Given the description of an element on the screen output the (x, y) to click on. 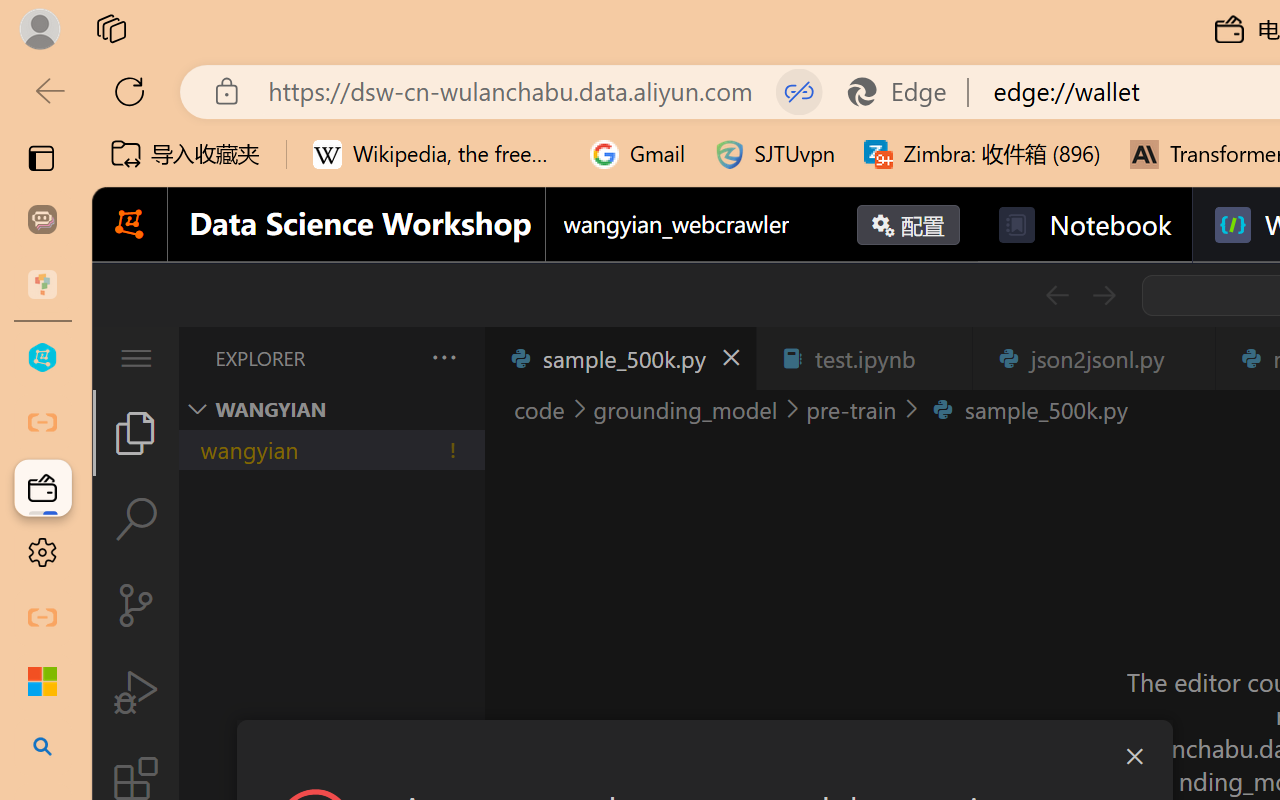
sample_500k.py (619, 358)
Views and More Actions... (442, 357)
Go Forward (Alt+RightArrow) (1102, 295)
Search (Ctrl+Shift+F) (135, 519)
Gmail (637, 154)
Run and Debug (Ctrl+Shift+D) (135, 692)
Explorer actions (391, 358)
Close (Ctrl+F4) (1188, 358)
Edge (905, 91)
Tab actions (1188, 358)
